Given the description of an element on the screen output the (x, y) to click on. 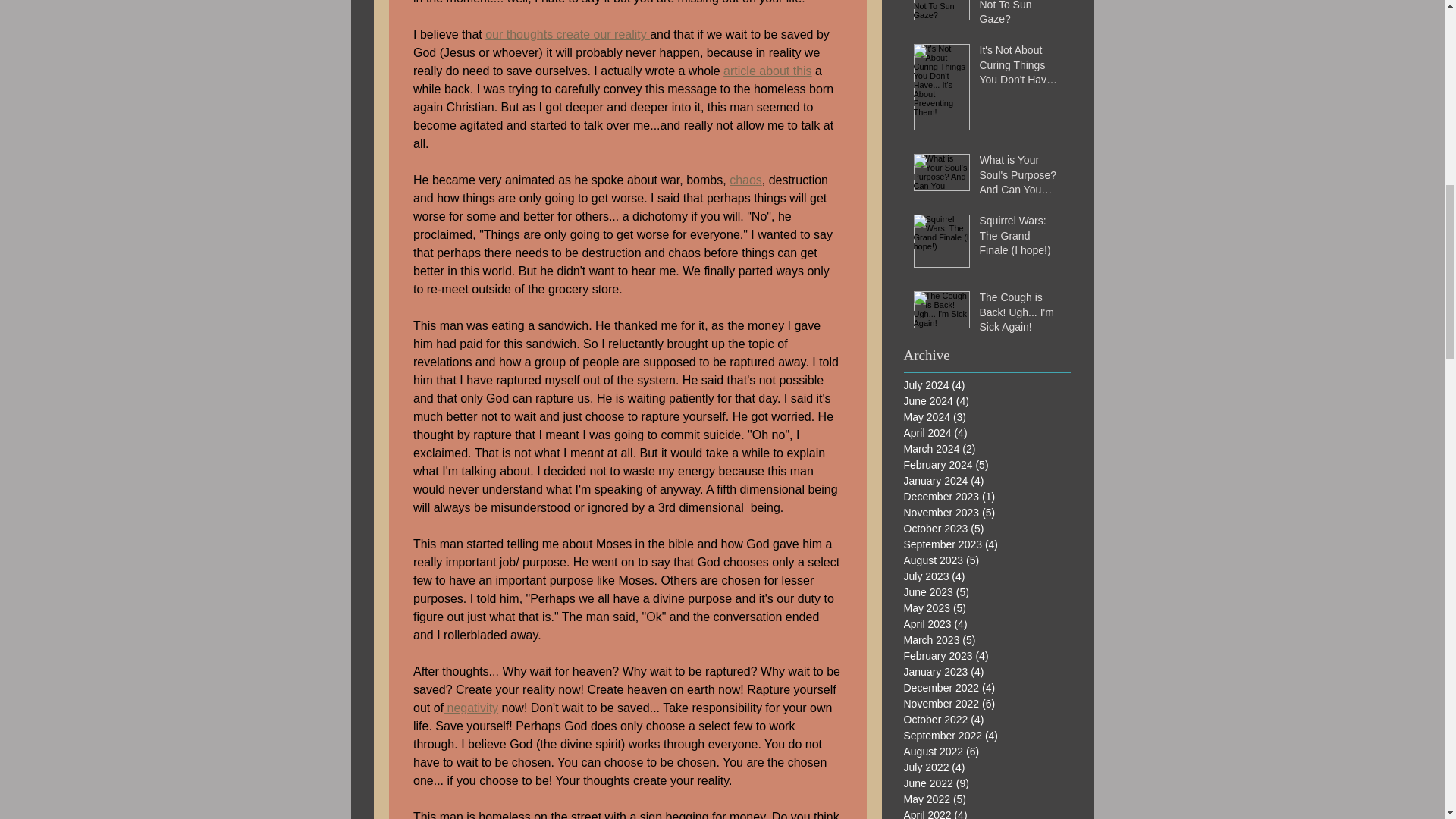
article about this (767, 70)
 negativity (470, 707)
chaos (745, 179)
our thoughts create our reality  (566, 33)
